Given the description of an element on the screen output the (x, y) to click on. 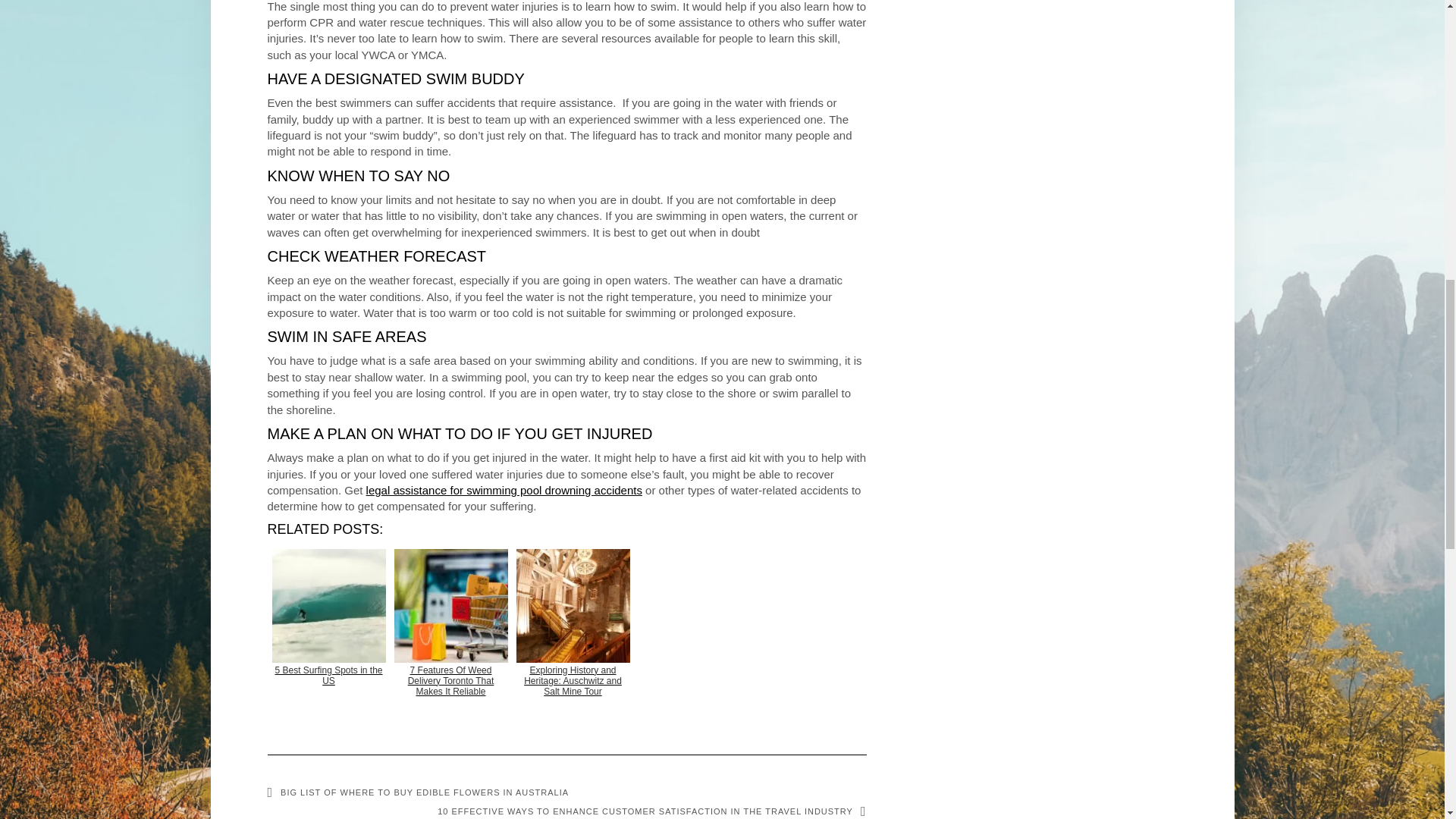
BIG LIST OF WHERE TO BUY EDIBLE FLOWERS IN AUSTRALIA (417, 791)
legal assistance for swimming pool drowning accidents (504, 490)
